Given the description of an element on the screen output the (x, y) to click on. 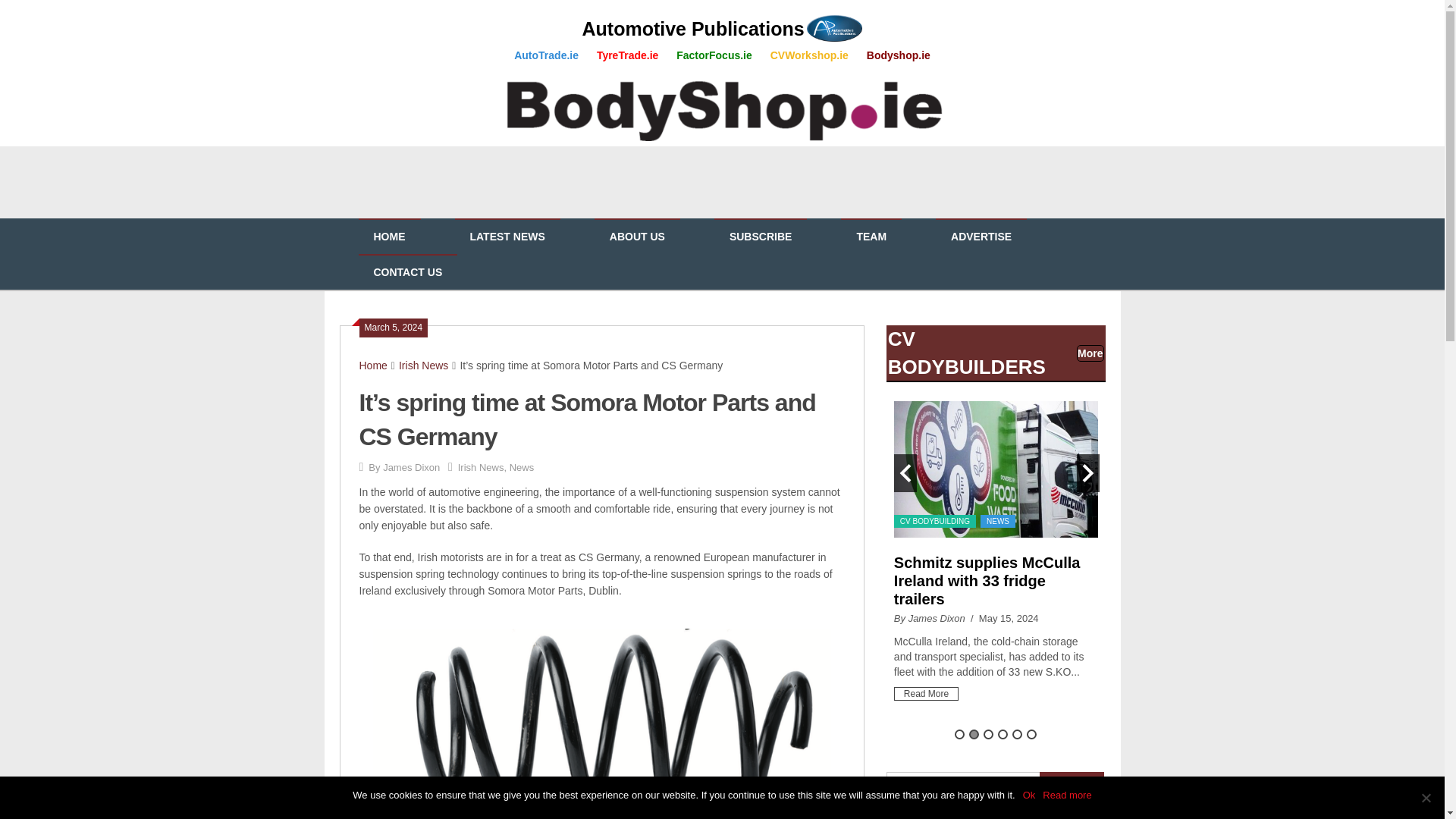
Search this site... (962, 786)
Schmitz supplies McCulla Ireland with 33 fridge trailers (986, 580)
HOME (389, 236)
ADVERTISE (981, 236)
ABOUT US (636, 236)
Posts by James Dixon (410, 467)
James Dixon (410, 467)
No (1425, 797)
NEWS (996, 521)
News (521, 467)
CONTACT US (407, 272)
Read More (925, 694)
CV BODYBUILDING (934, 521)
CV BODYBUILDERS (966, 352)
Irish News (480, 467)
